Given the description of an element on the screen output the (x, y) to click on. 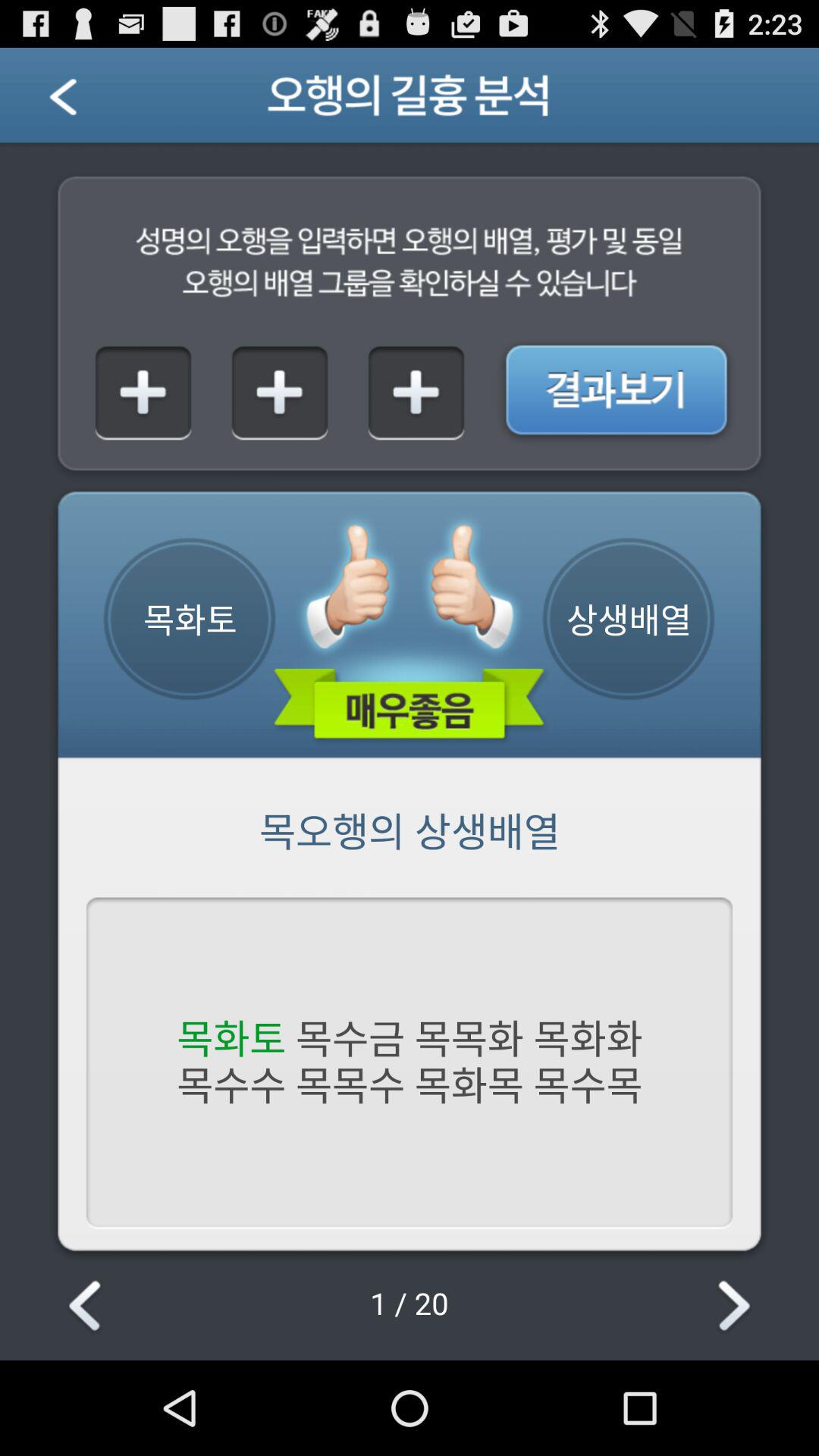
go back (81, 101)
